Given the description of an element on the screen output the (x, y) to click on. 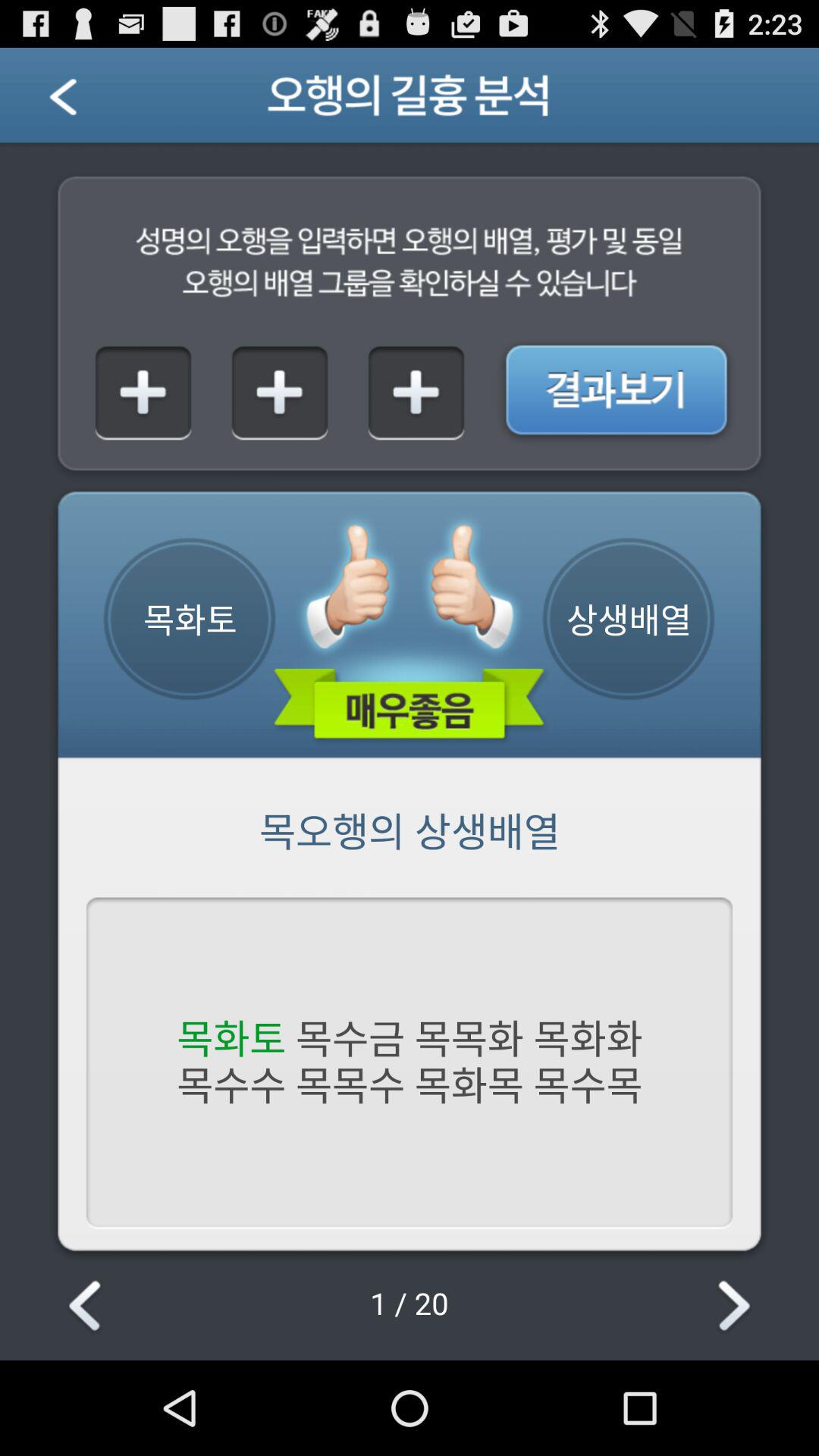
go back (81, 101)
